Given the description of an element on the screen output the (x, y) to click on. 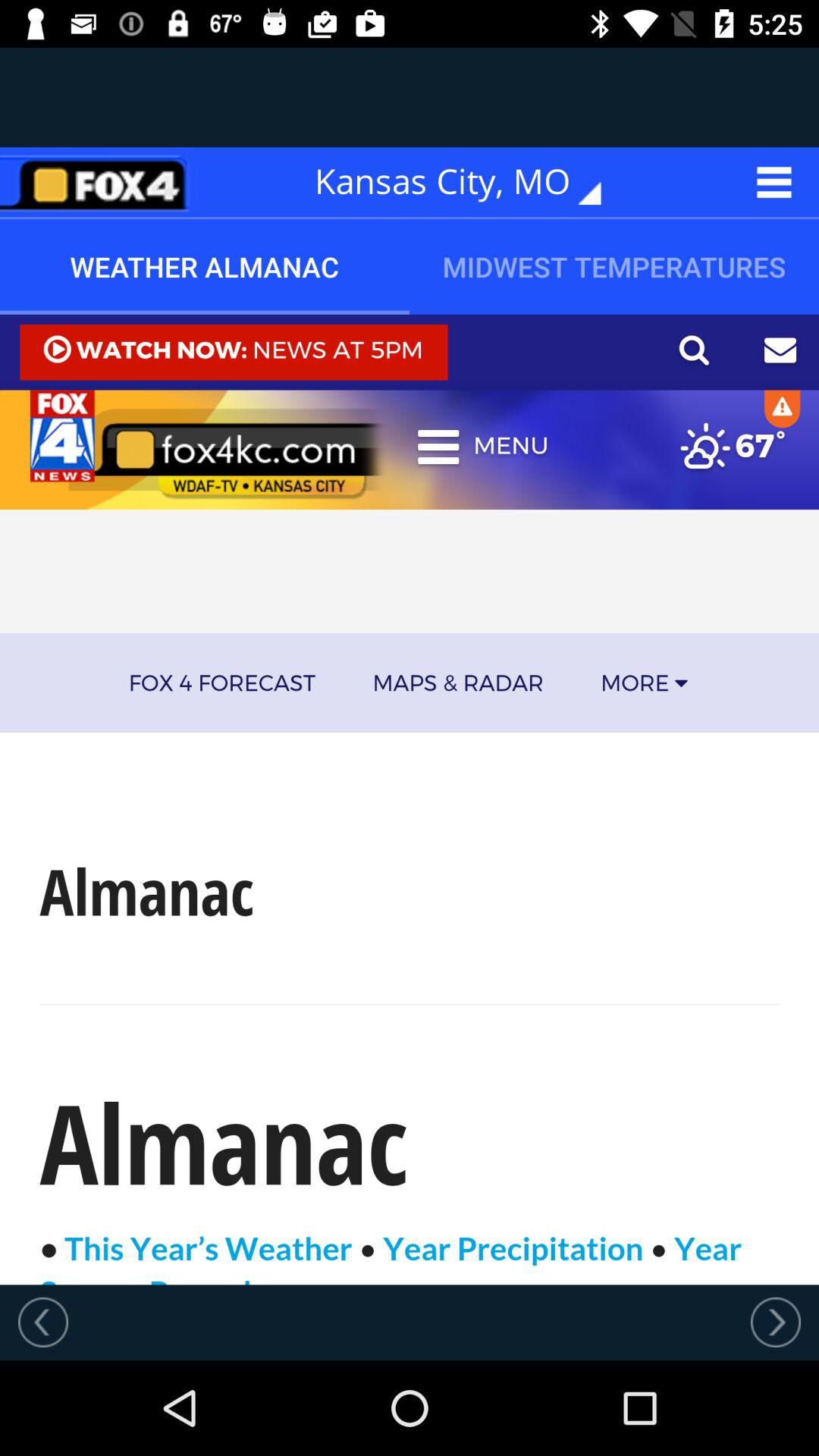
open the weather article (409, 799)
